Given the description of an element on the screen output the (x, y) to click on. 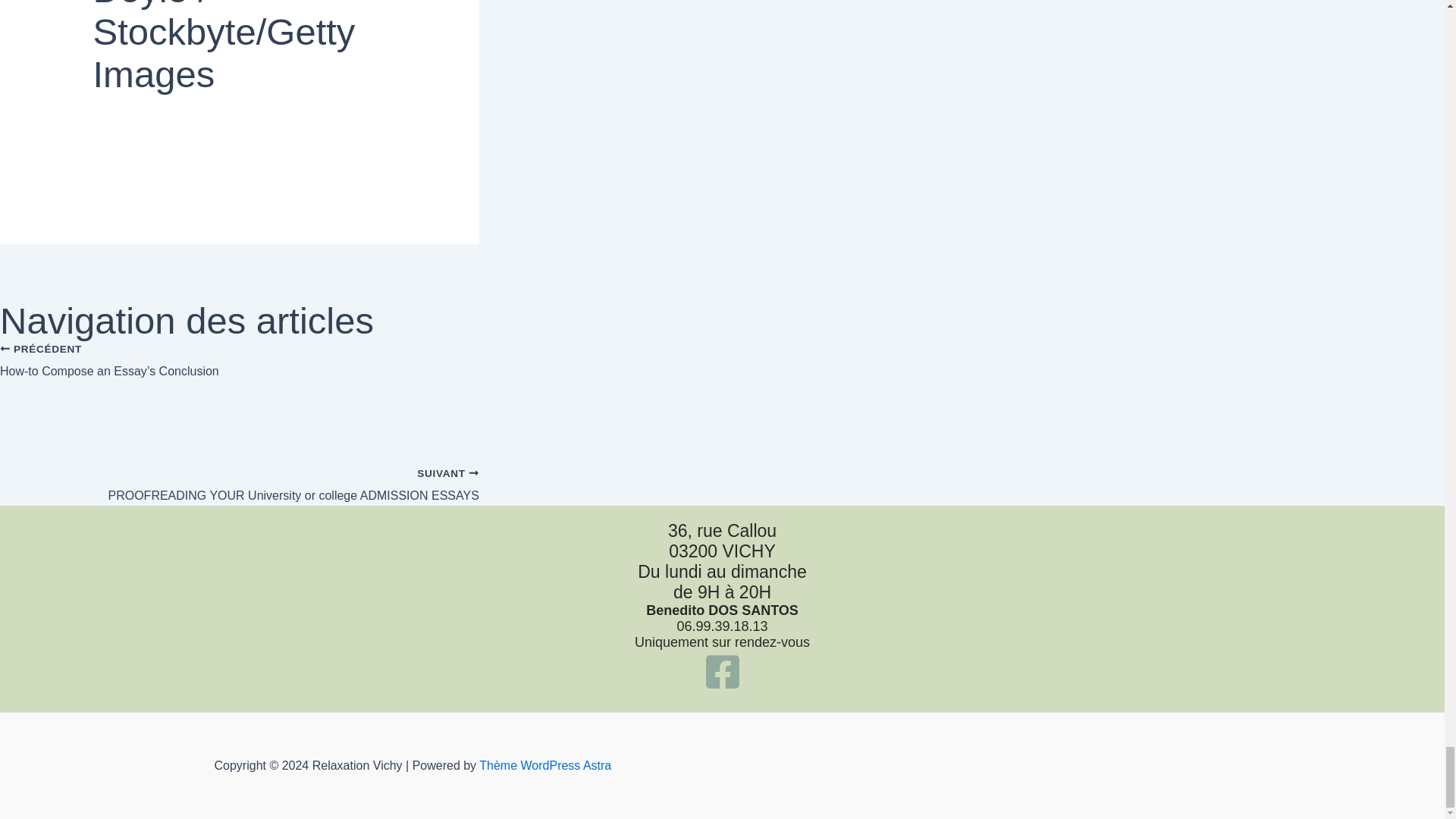
PROOFREADING YOUR University or college ADMISSION ESSAYS (239, 476)
How-to Compose an Essay's Conclusion (239, 379)
